Given the description of an element on the screen output the (x, y) to click on. 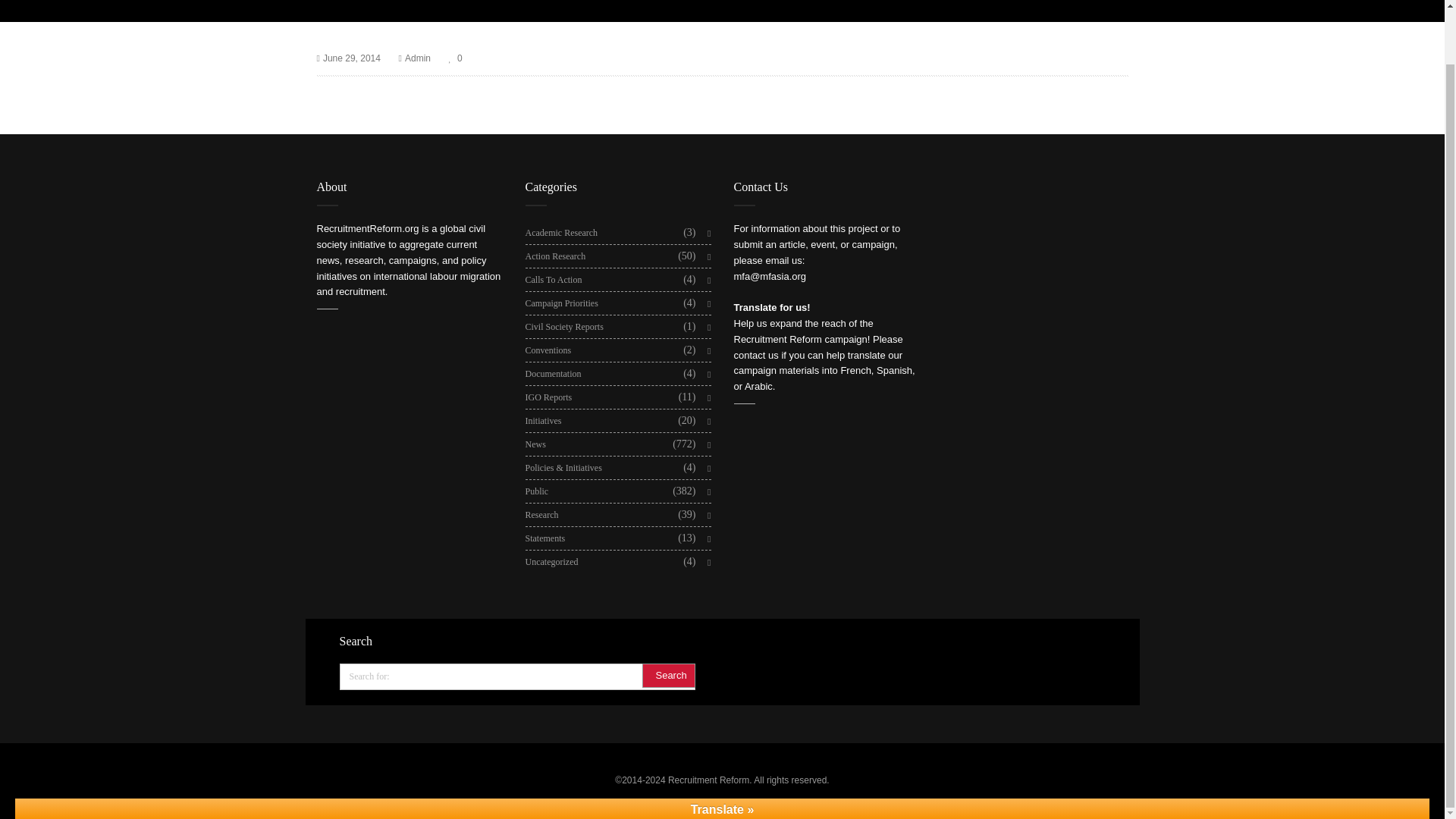
Academic Research (560, 232)
Action Research (554, 255)
INITIATIVES (576, 2)
CONTACT (911, 2)
OUR PRIORITIES (494, 2)
CALLS TO ACTION! (664, 2)
Campaign Priorities (560, 302)
0 (455, 58)
HOME (376, 2)
NEWS (860, 2)
Conventions (547, 350)
Civil Society Reports (563, 326)
Calls To Action (552, 279)
Admin (417, 58)
Search (668, 675)
